Given the description of an element on the screen output the (x, y) to click on. 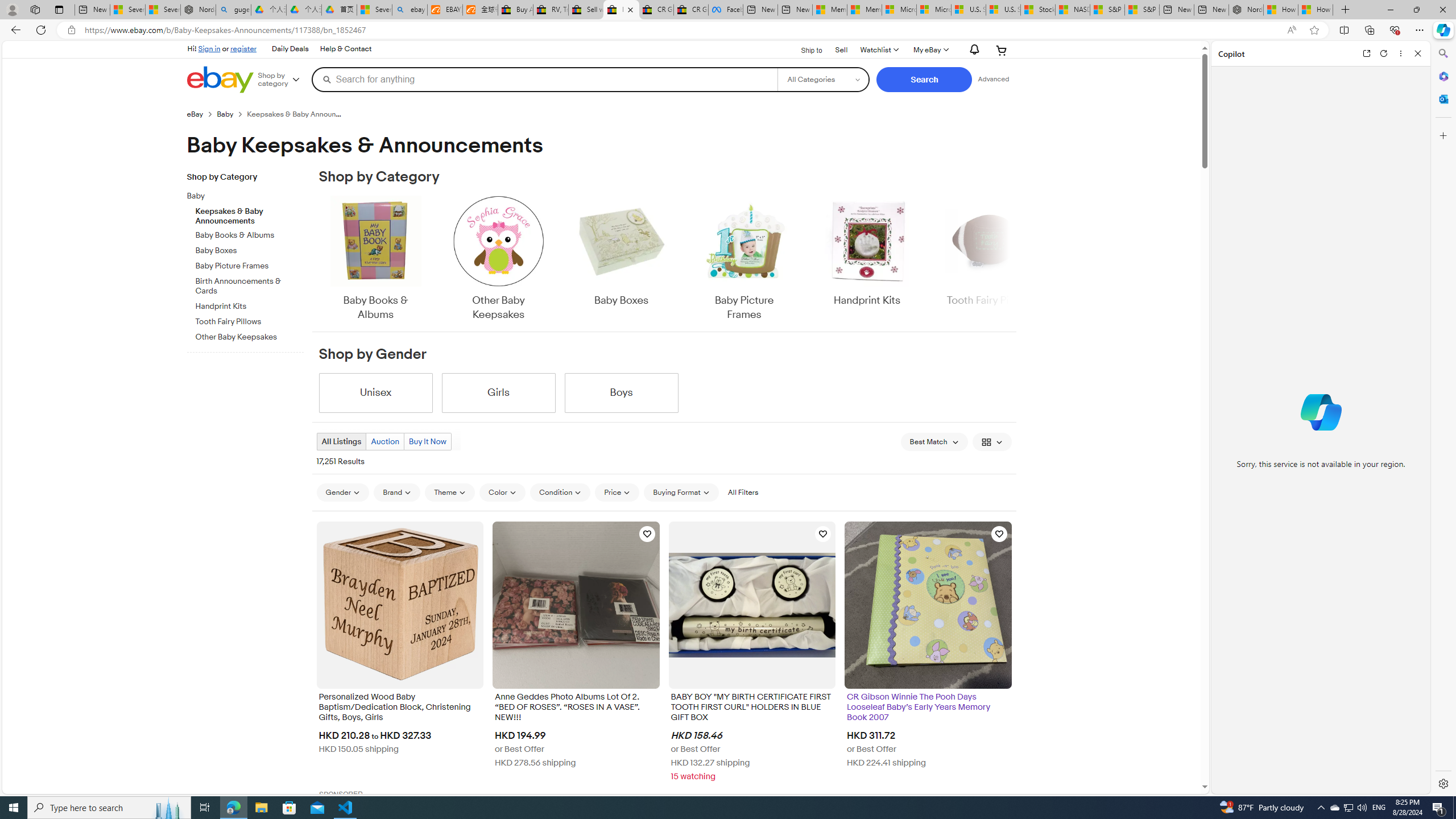
Daily Deals (289, 49)
Select a category for search (823, 78)
Go to previous slide (317, 258)
Girls (498, 392)
